Given the description of an element on the screen output the (x, y) to click on. 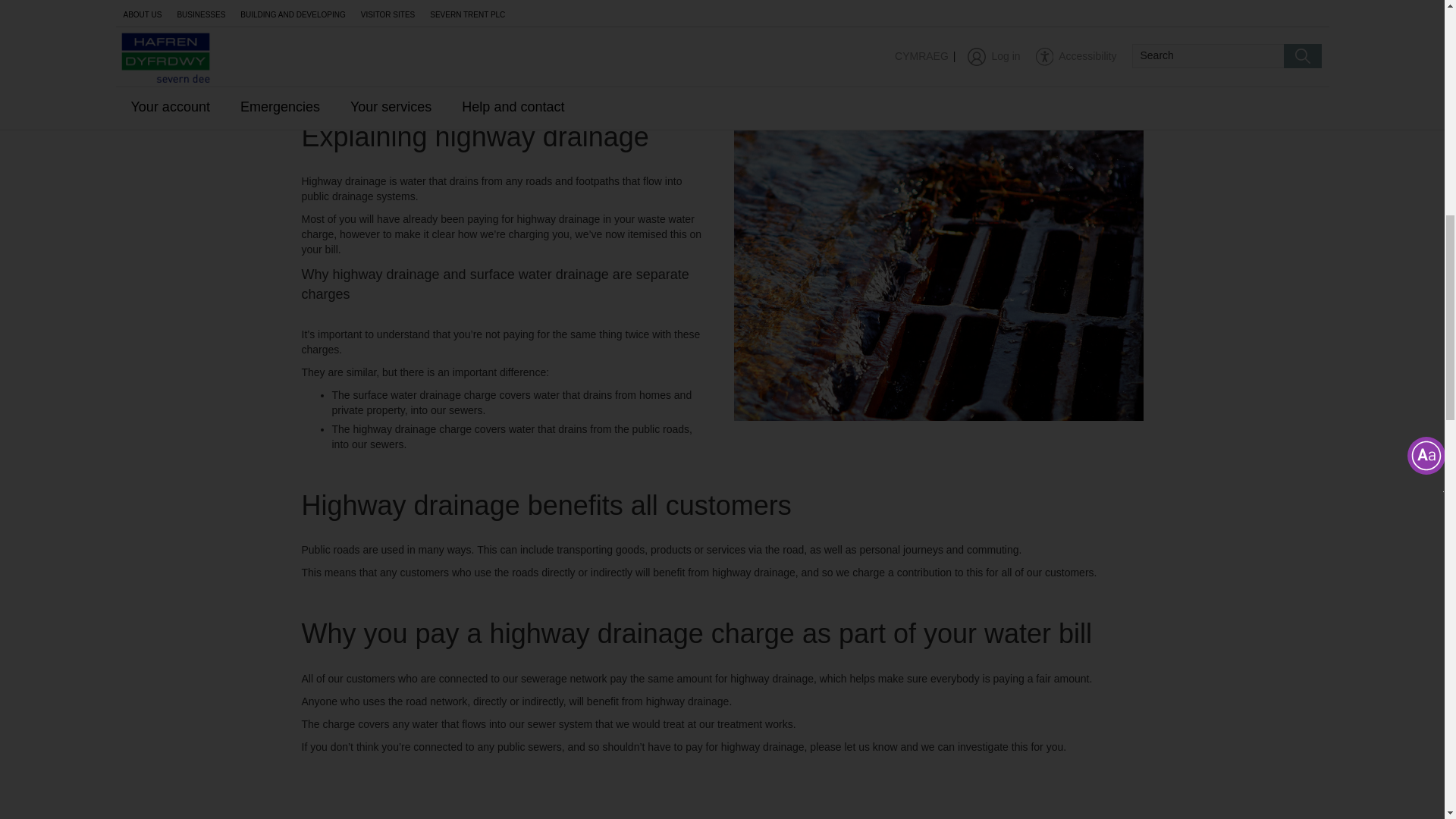
The important work your bill funds (936, 46)
